Given the description of an element on the screen output the (x, y) to click on. 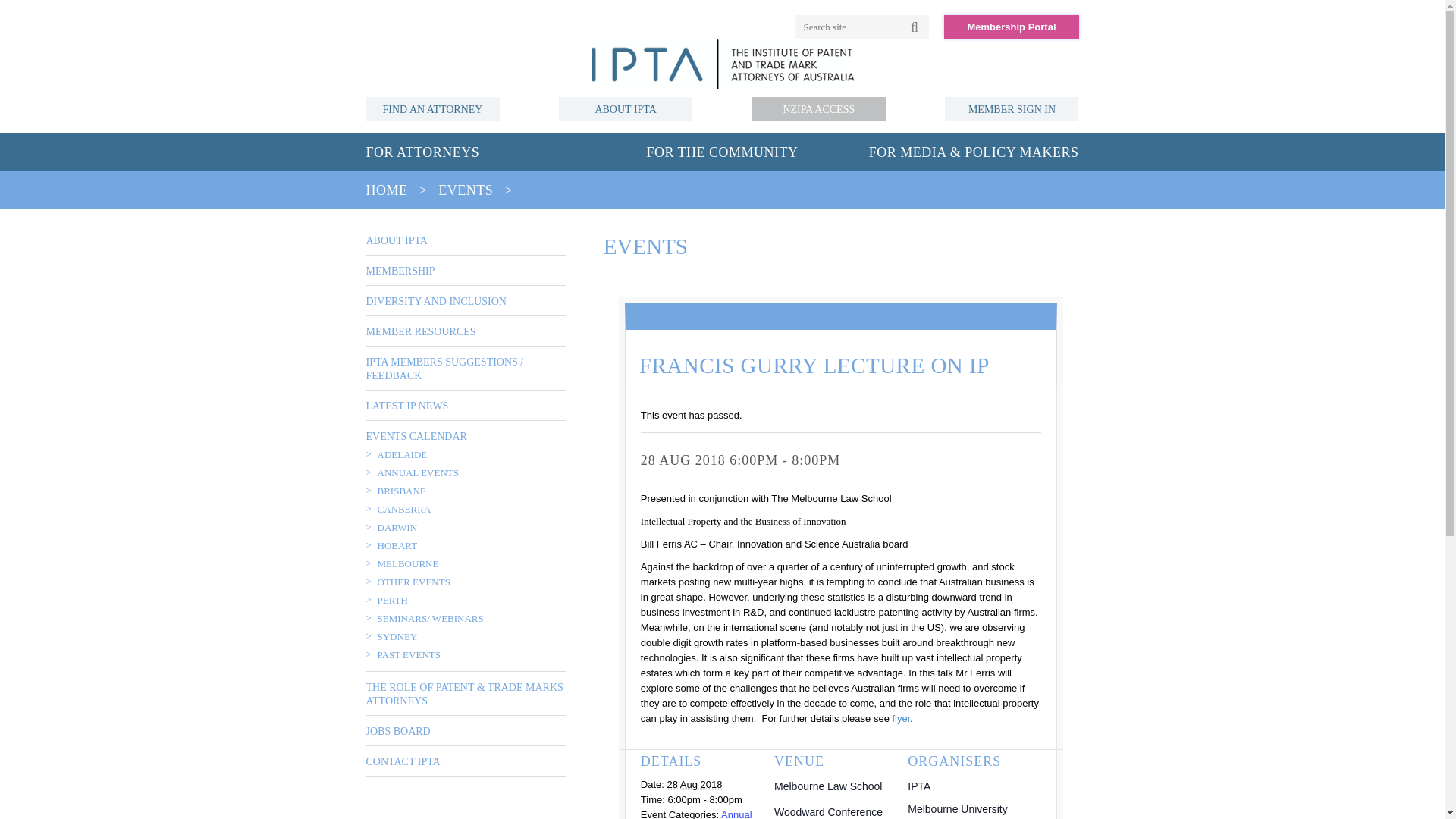
FOR THE COMMUNITY (721, 151)
EVENTS (465, 190)
FOR ATTORNEYS (422, 151)
2018-08-28 (703, 799)
2018-08-28 (694, 784)
IPTA Membership Portal (1010, 26)
MEMBER SIGN IN (1011, 109)
Search site (848, 27)
Membership Portal (1010, 26)
ABOUT IPTA (626, 109)
FIND AN ATTORNEY (432, 109)
NZIPA ACCESS (818, 109)
ABOUT IPTA (395, 240)
HOME (386, 190)
